Given the description of an element on the screen output the (x, y) to click on. 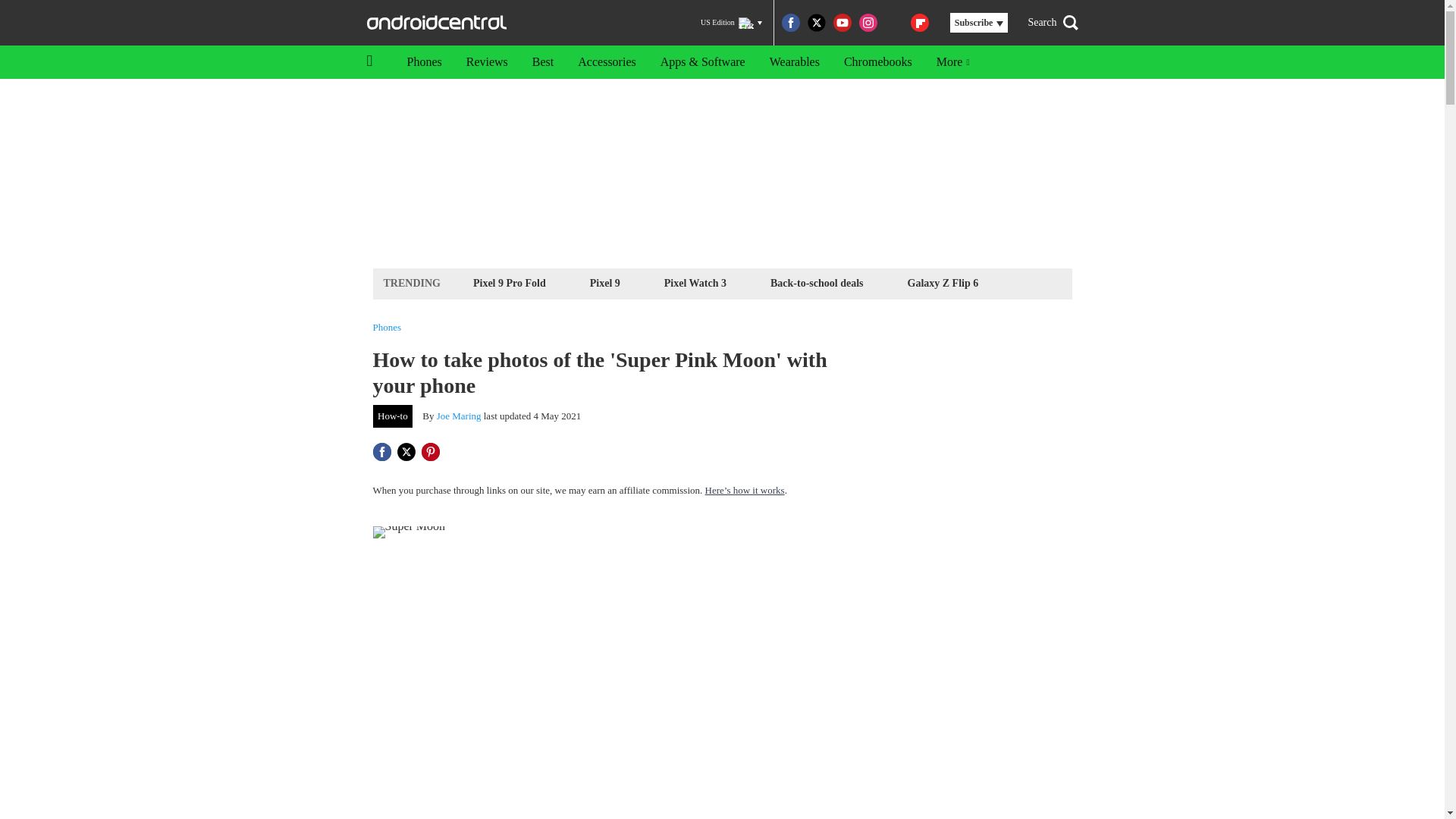
Back-to-school deals (817, 282)
Pixel 9 (605, 282)
Phones (386, 327)
Chromebooks (877, 61)
Phones (423, 61)
Accessories (606, 61)
Pixel 9 Pro Fold (509, 282)
Best (542, 61)
Wearables (794, 61)
Galaxy Z Flip 6 (943, 282)
